Given the description of an element on the screen output the (x, y) to click on. 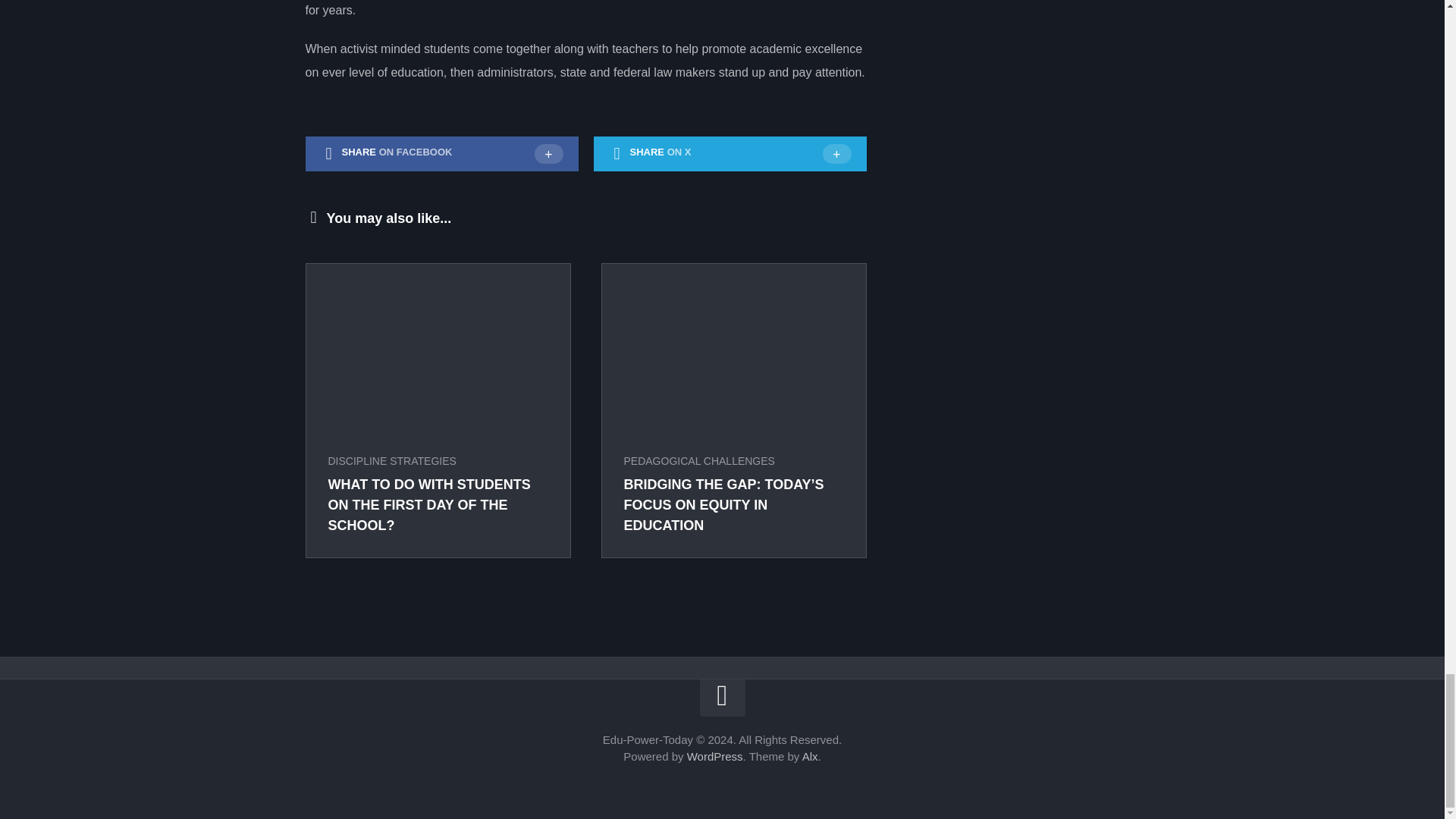
WHAT TO DO WITH STUDENTS ON THE FIRST DAY OF THE SCHOOL? (428, 504)
SHARE ON X (729, 153)
DISCIPLINE STRATEGIES (391, 460)
SHARE ON FACEBOOK (441, 153)
PEDAGOGICAL CHALLENGES (698, 460)
